Given the description of an element on the screen output the (x, y) to click on. 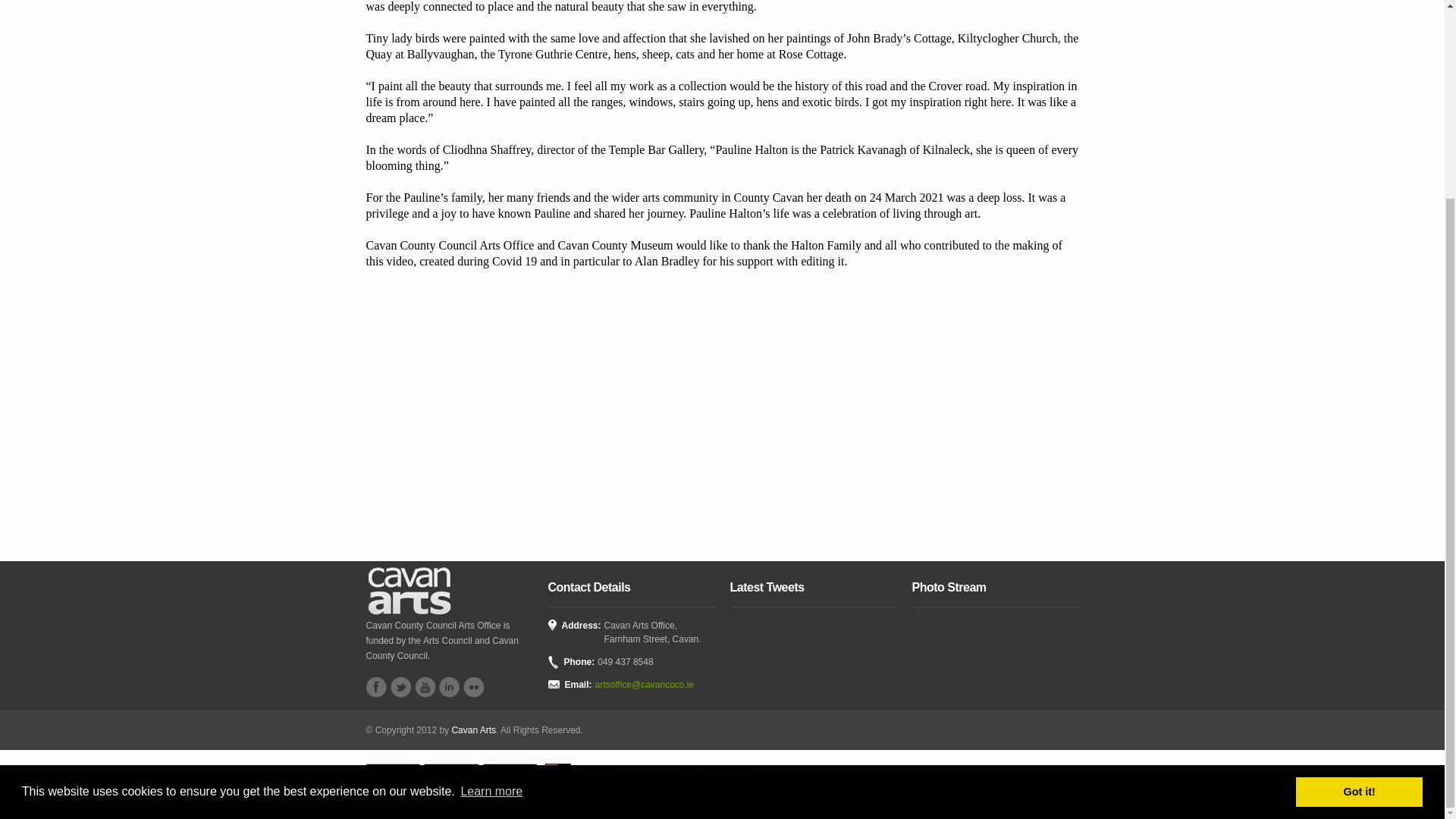
Got it! (1358, 539)
YouTube video player (577, 404)
Learn more (491, 539)
